Given the description of an element on the screen output the (x, y) to click on. 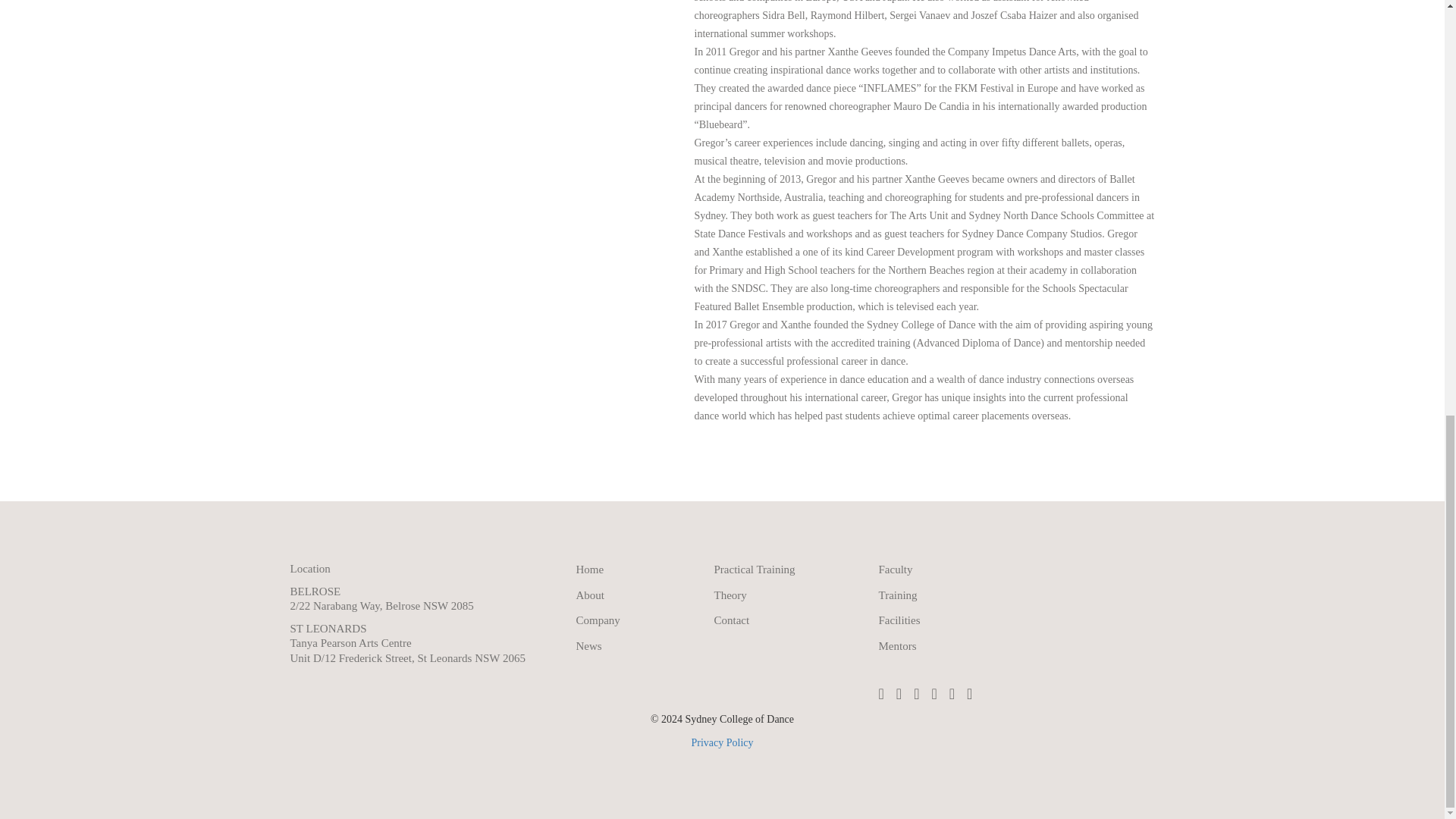
Mentors (896, 645)
Theory (730, 594)
Facilities (898, 620)
Faculty (894, 569)
About (590, 594)
Home (590, 569)
Training (897, 594)
News (589, 645)
Practical Training (754, 569)
Privacy Policy (721, 742)
Contact (731, 620)
Company (598, 620)
